Given the description of an element on the screen output the (x, y) to click on. 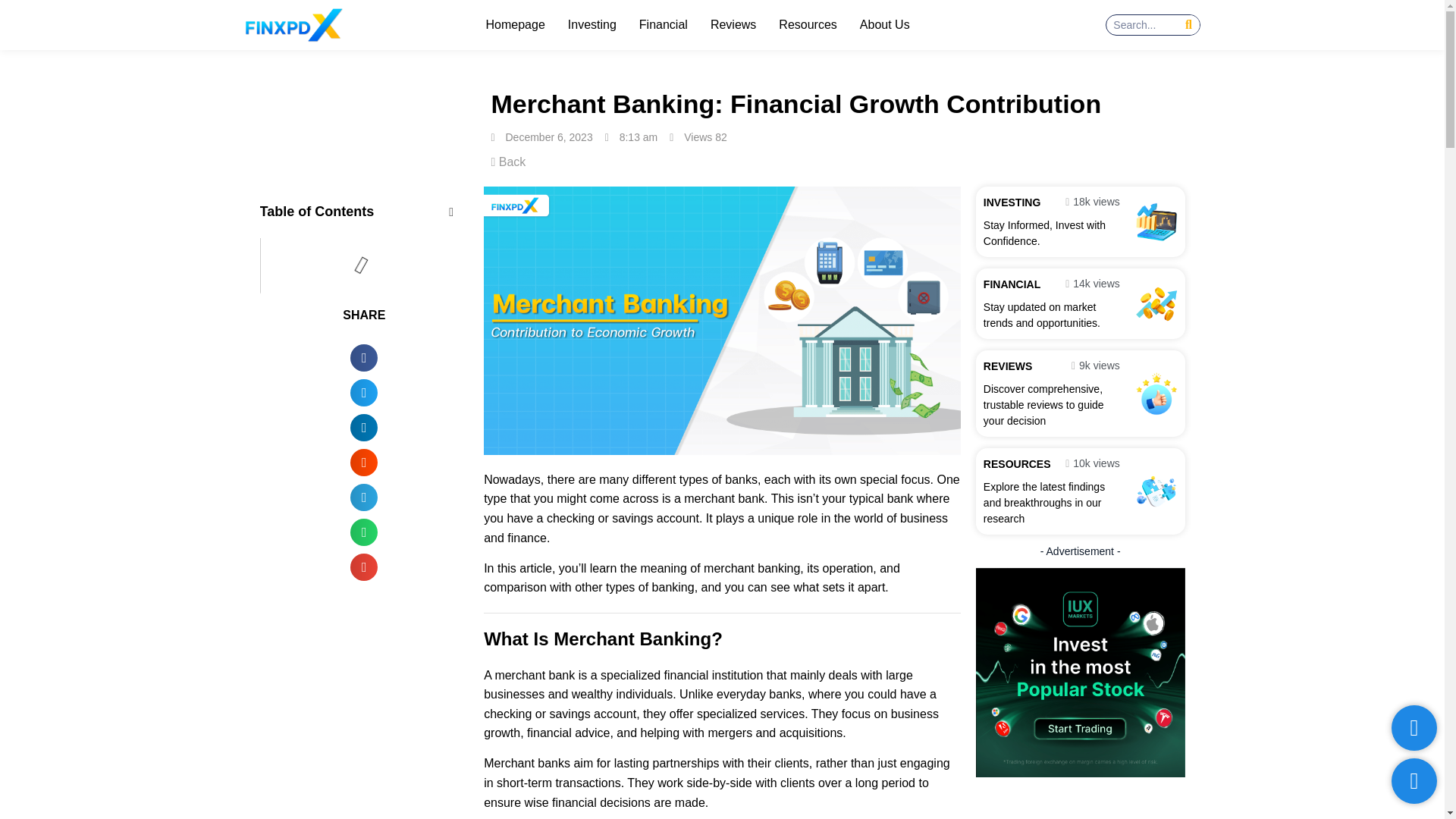
About Us (884, 24)
Financial (663, 24)
Resources (807, 24)
Reviews (732, 24)
Homepage (516, 24)
Investing (592, 24)
